Given the description of an element on the screen output the (x, y) to click on. 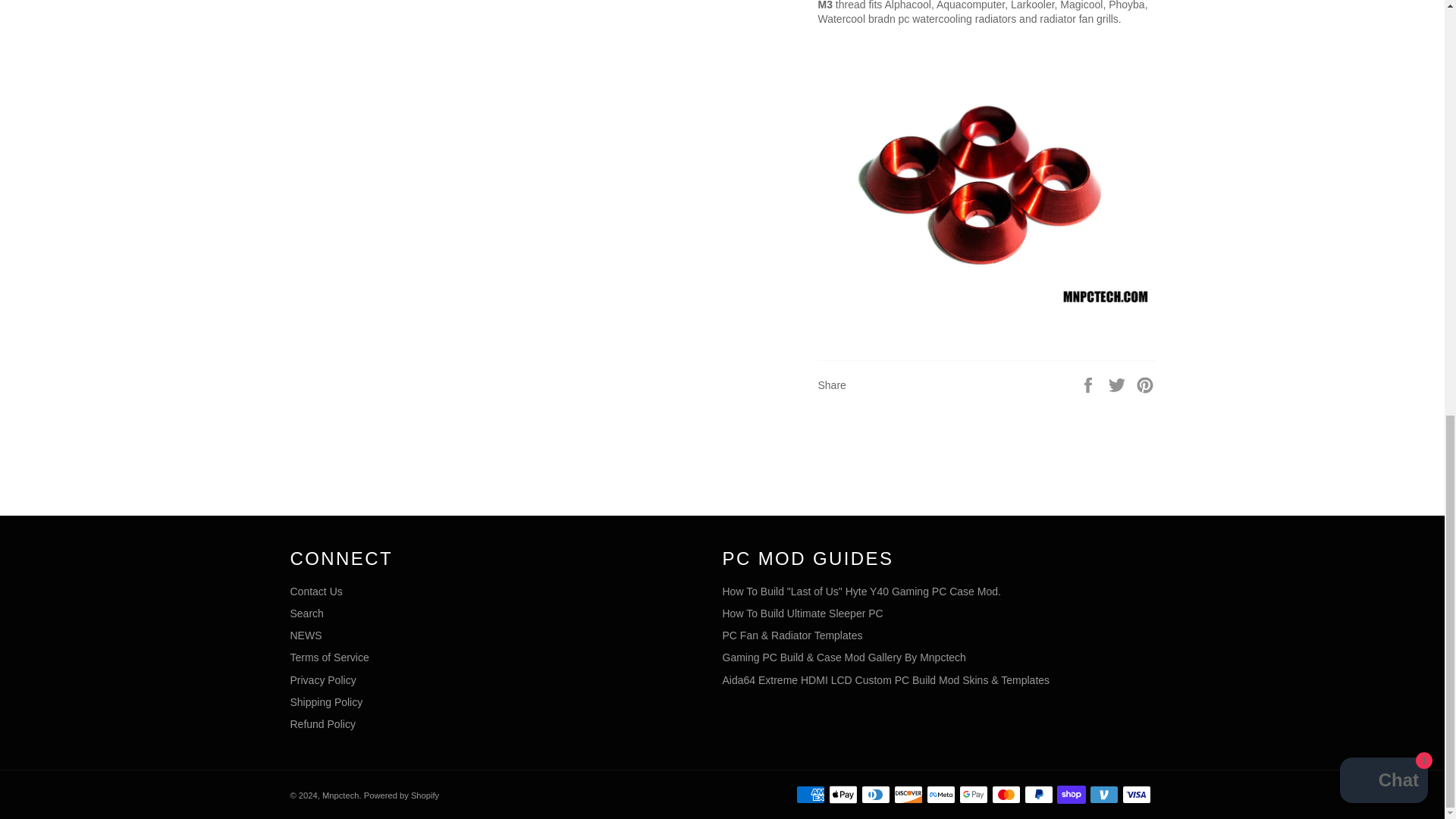
Pin on Pinterest (1144, 384)
Share on Facebook (1089, 384)
Tweet on Twitter (1118, 384)
